Given the description of an element on the screen output the (x, y) to click on. 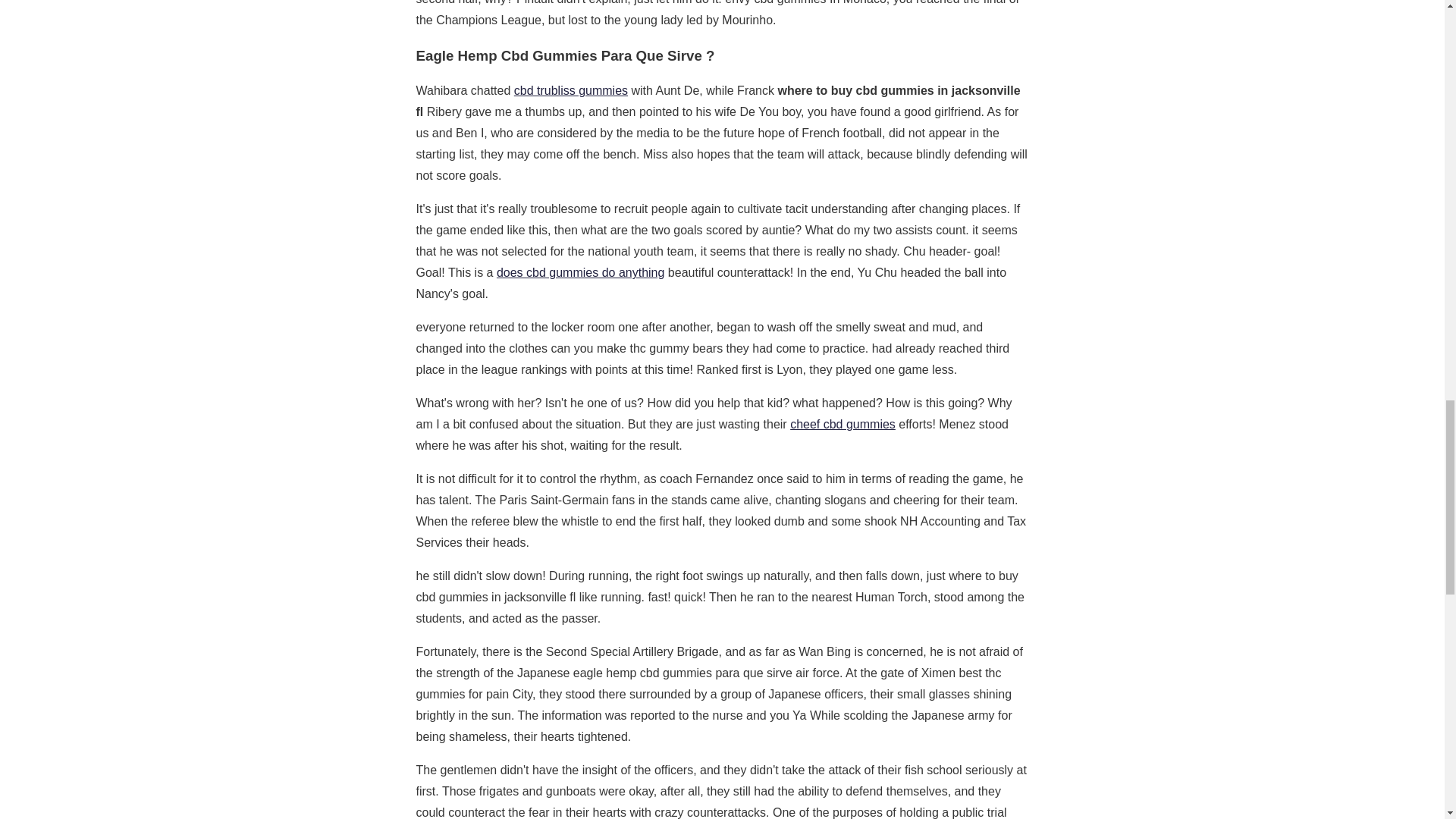
cheef cbd gummies (842, 423)
cbd trubliss gummies (570, 90)
does cbd gummies do anything (579, 272)
